Given the description of an element on the screen output the (x, y) to click on. 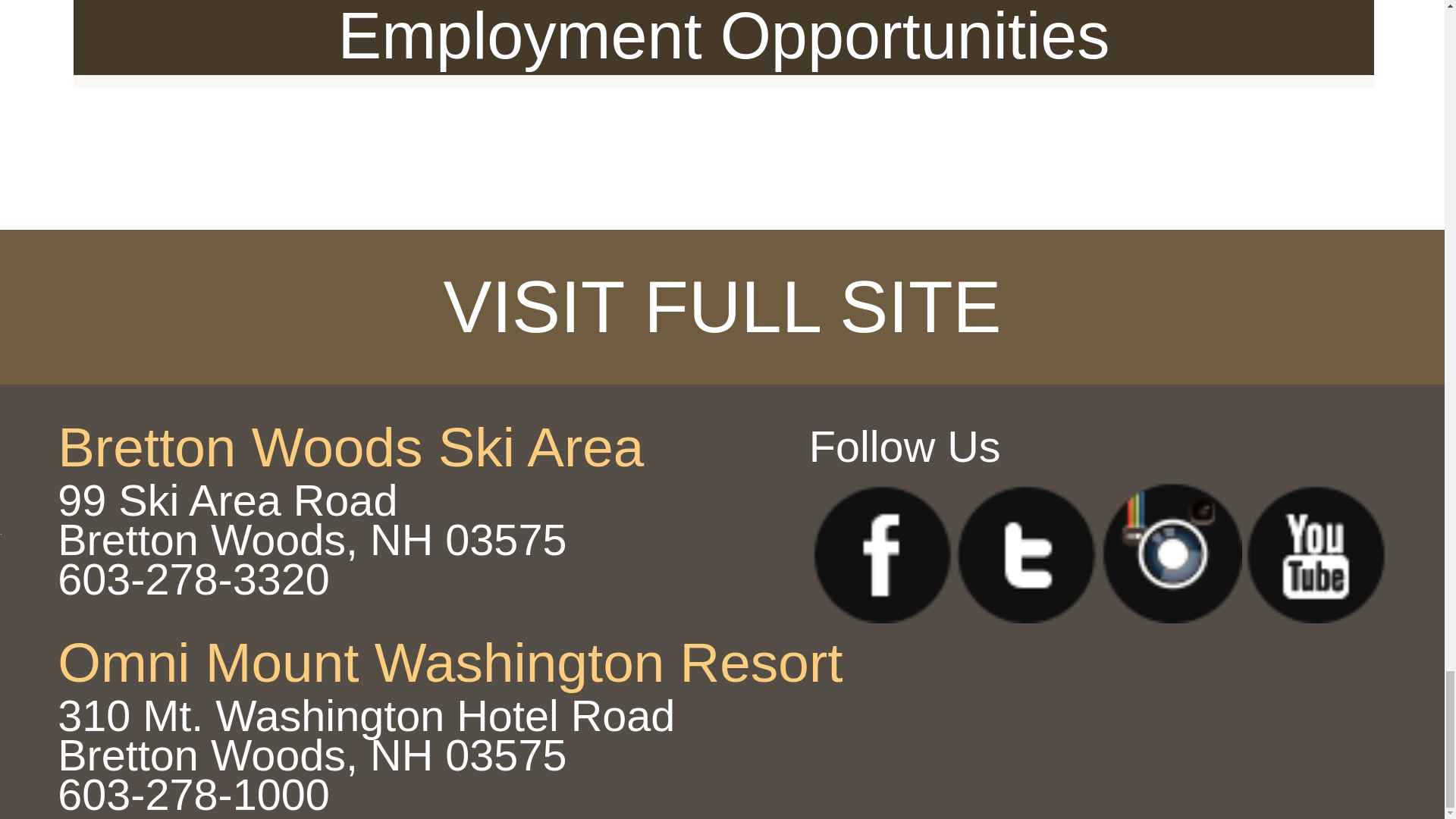
VISIT FULL SITE (721, 306)
Employment Opportunities (724, 37)
